Given the description of an element on the screen output the (x, y) to click on. 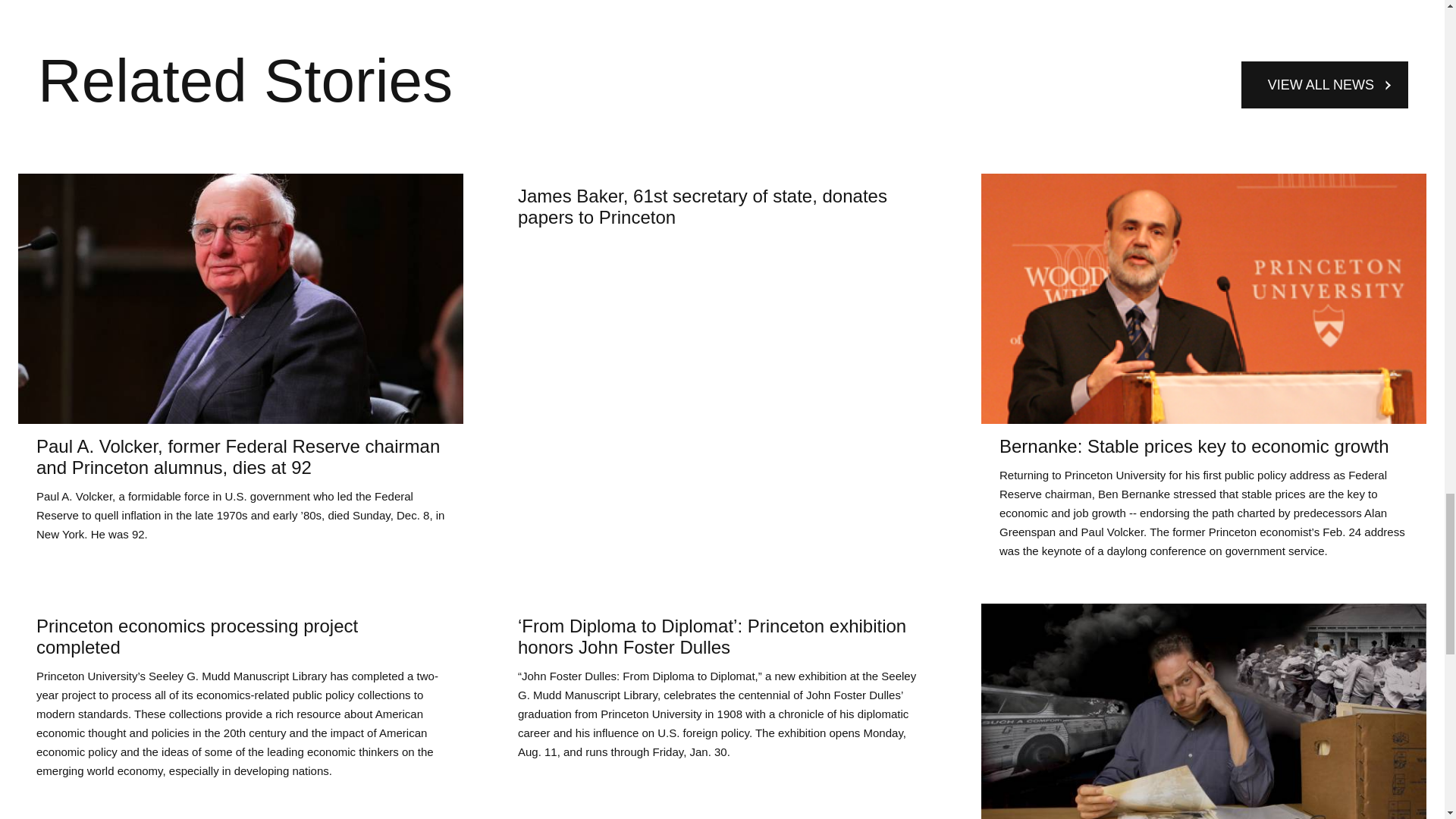
VIEW ALL NEWS (1324, 84)
